Given the description of an element on the screen output the (x, y) to click on. 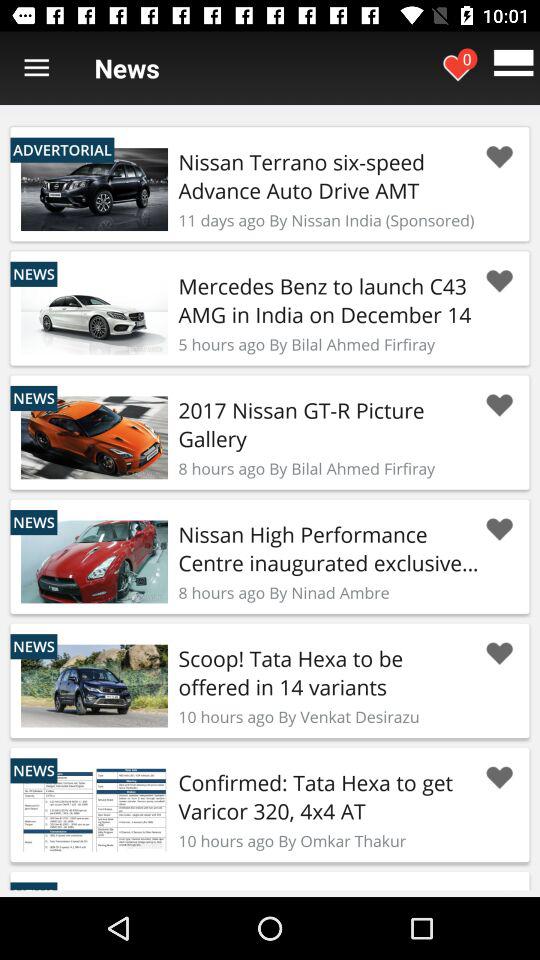
like option (499, 157)
